Given the description of an element on the screen output the (x, y) to click on. 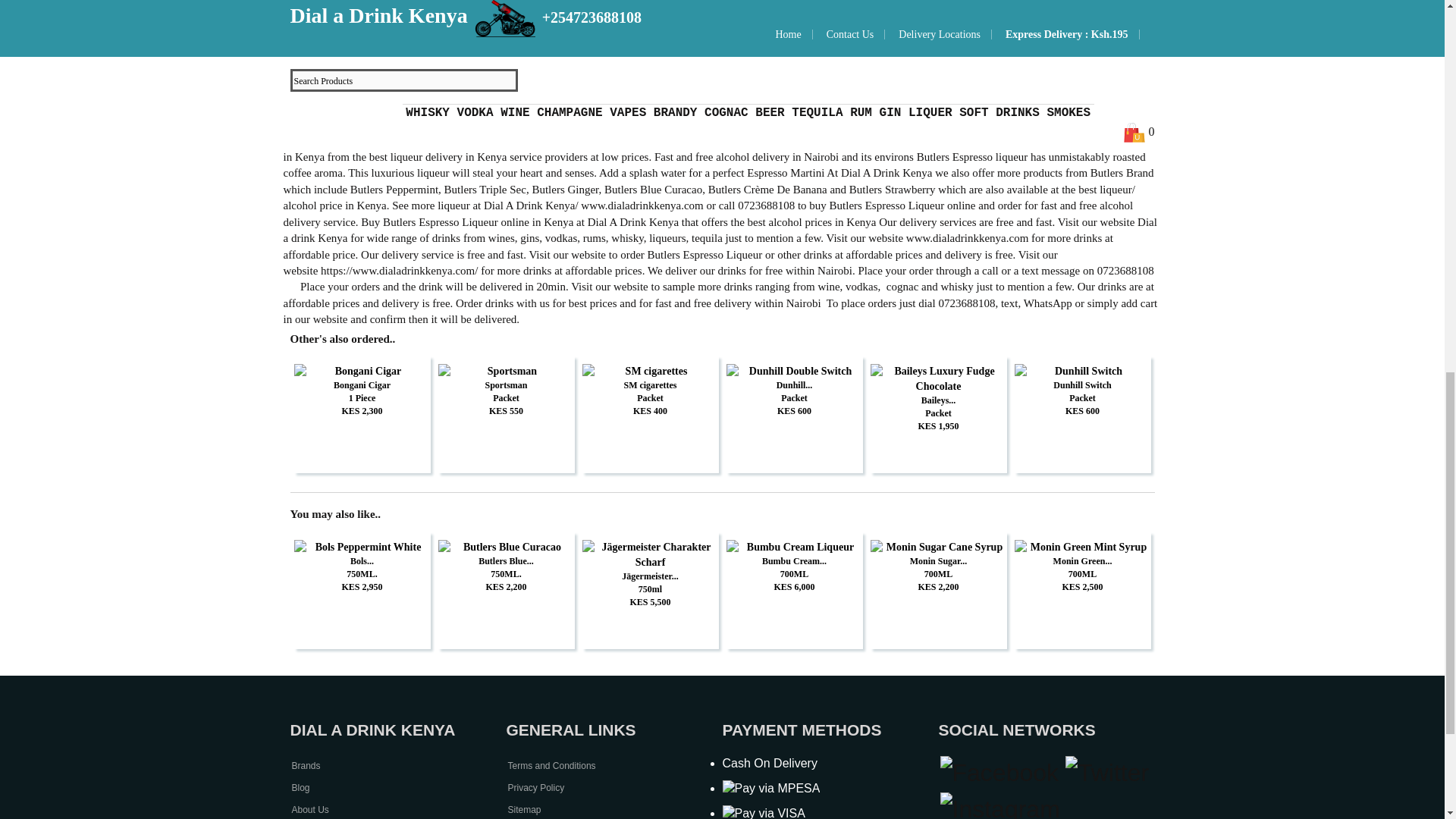
Sportsman  (506, 371)
SM cigarettes (650, 385)
SM cigarettes (650, 371)
Bongani Cigar (362, 385)
Sportsman  (506, 385)
Dunhill Double Switch (794, 371)
Bongani Cigar (362, 371)
